Given the description of an element on the screen output the (x, y) to click on. 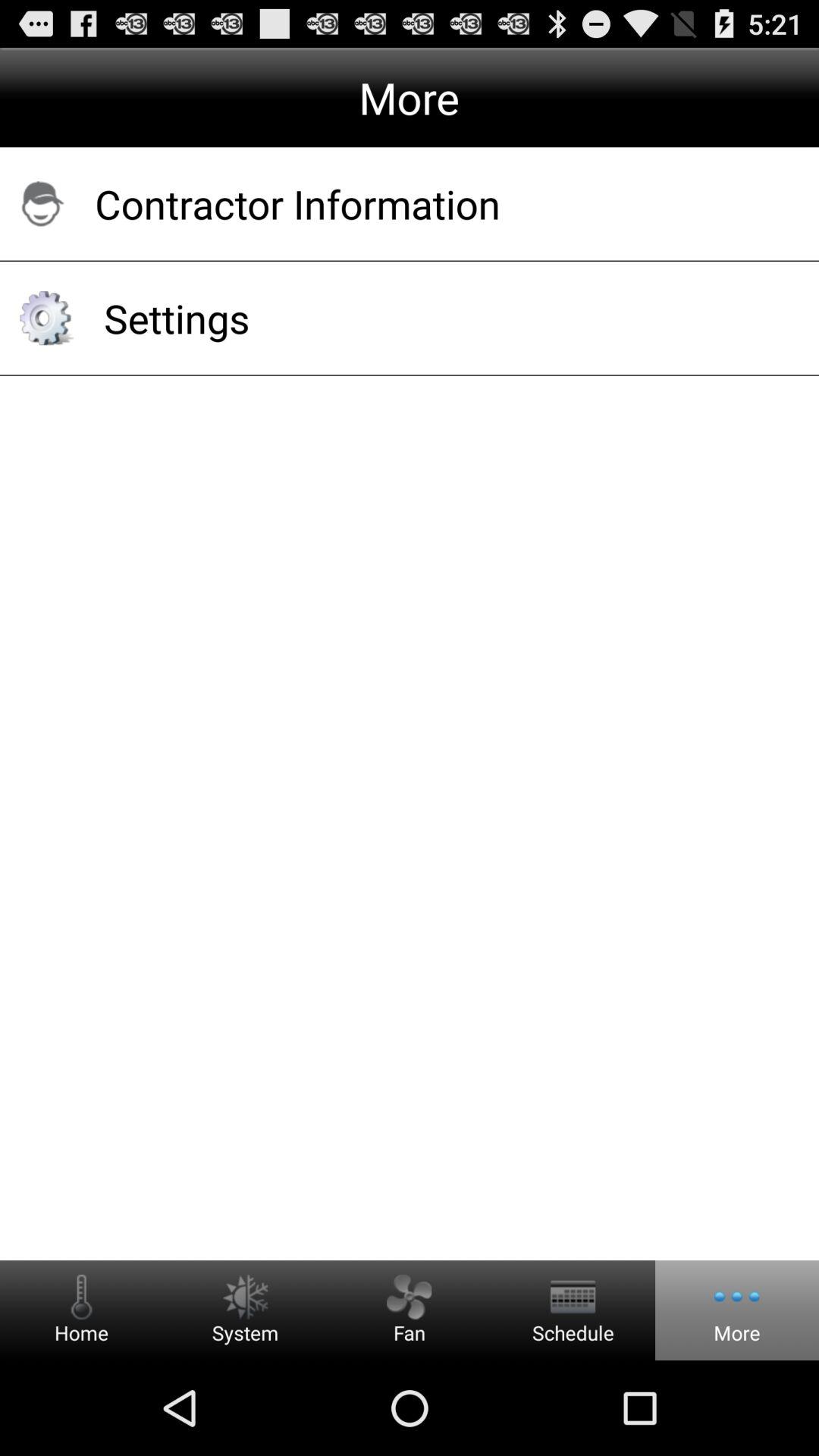
tap the icon below contractor information item (441, 317)
